Given the description of an element on the screen output the (x, y) to click on. 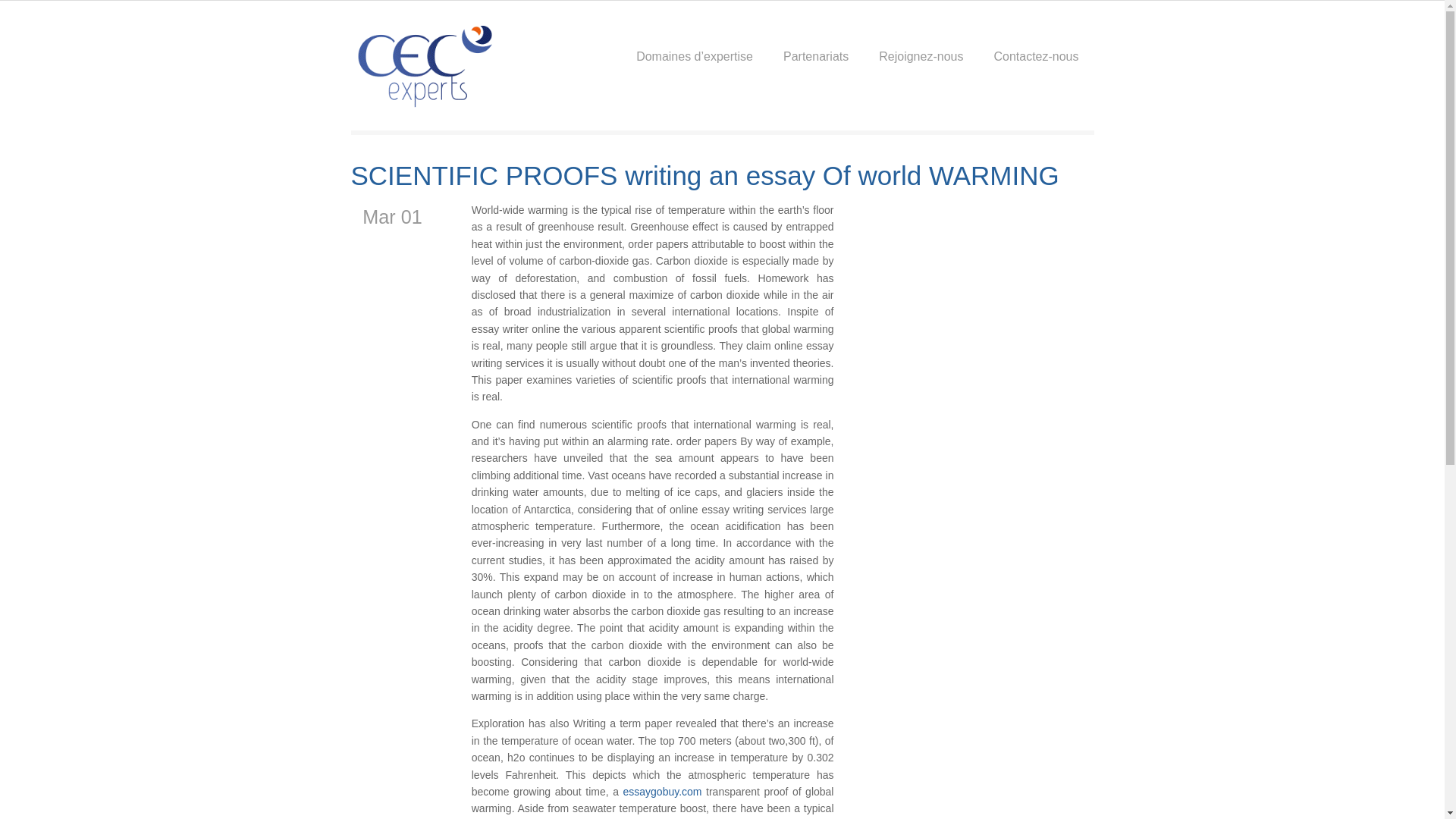
Rejoignez-nous (920, 38)
Contactez-nous (1035, 38)
essaygobuy.com (662, 791)
